Given the description of an element on the screen output the (x, y) to click on. 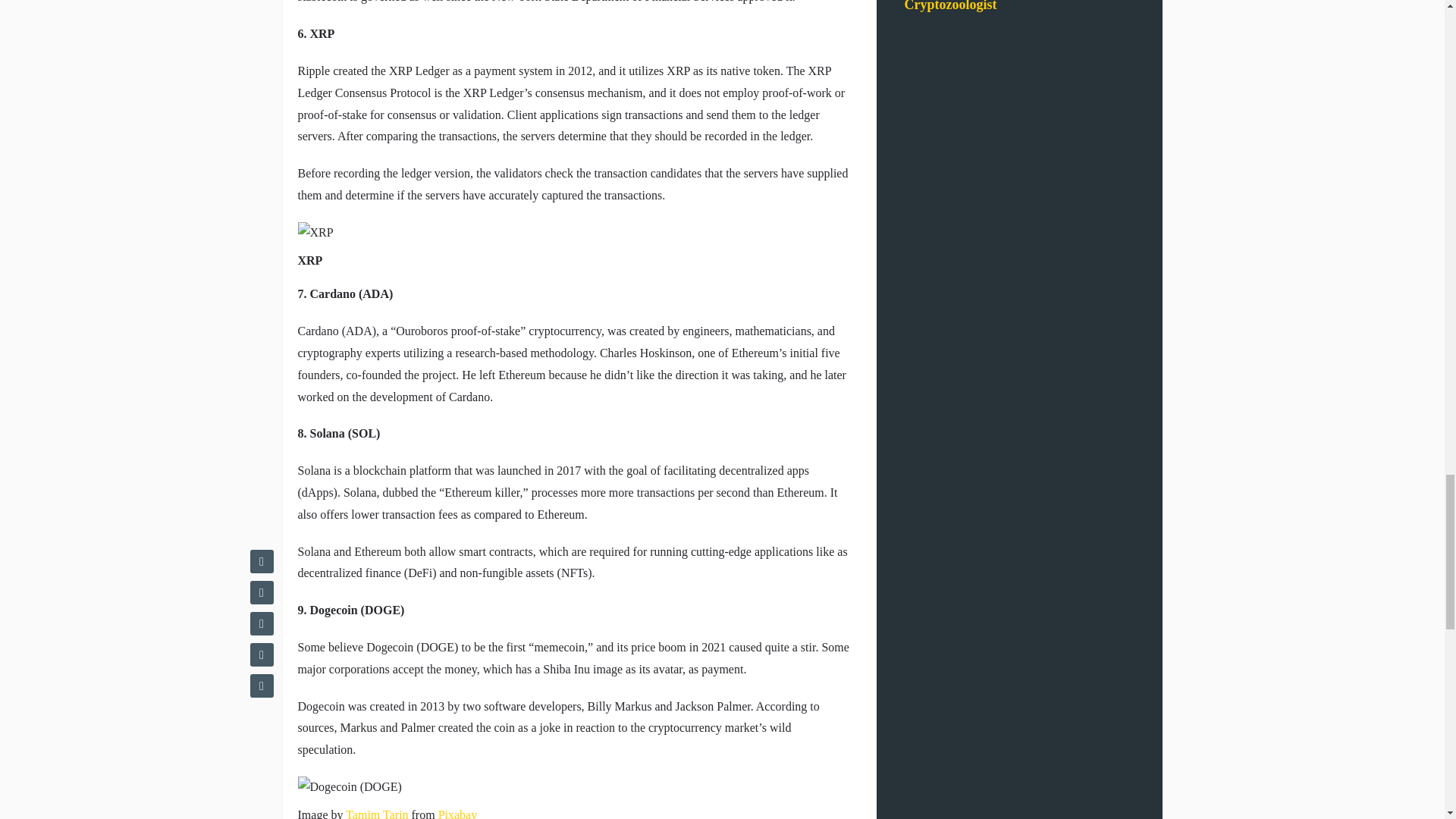
Pixabay (457, 813)
Tamim Tarin (376, 813)
Explore The World With A Cryptozoologist (981, 6)
